Given the description of an element on the screen output the (x, y) to click on. 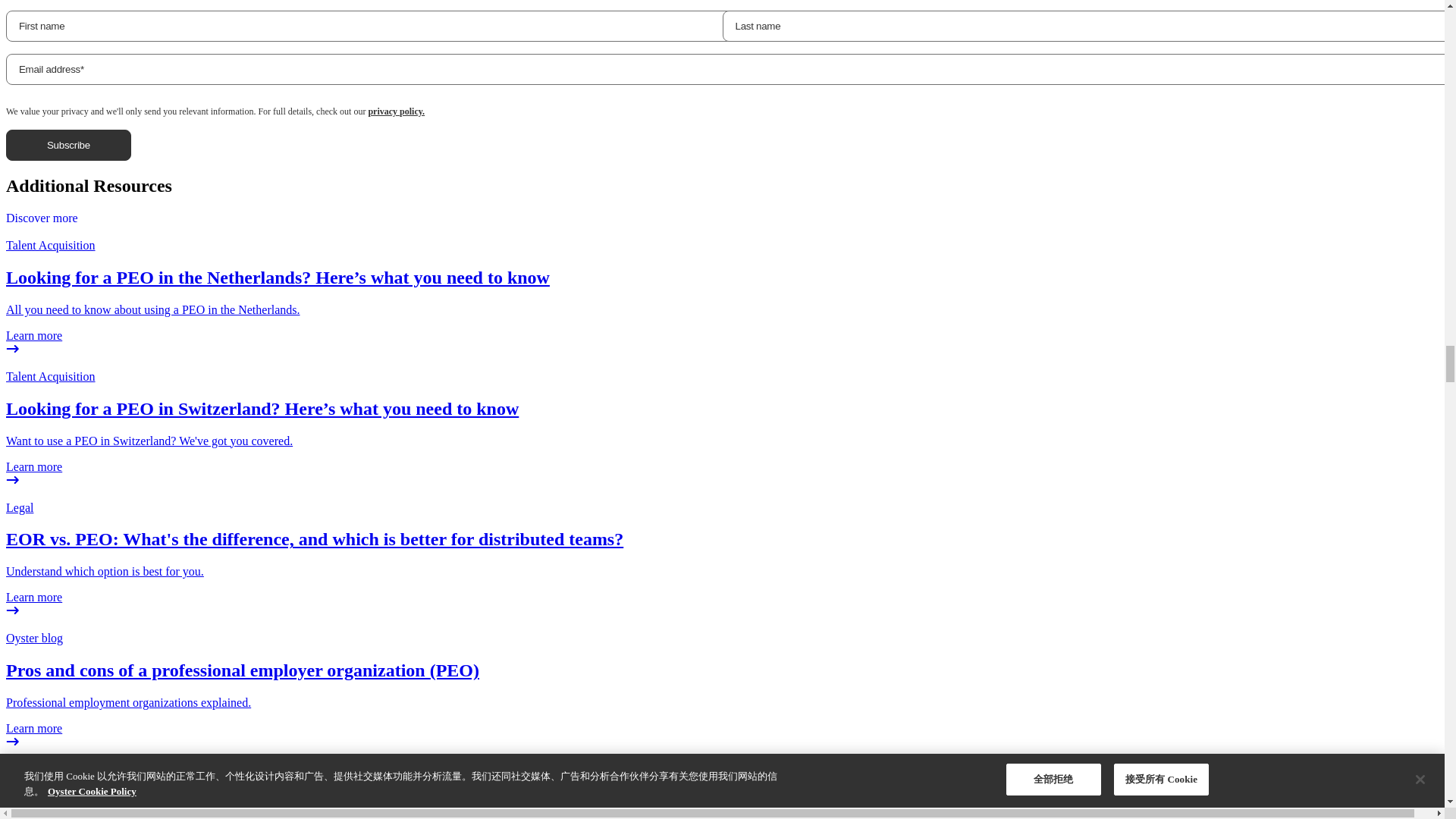
Subscribe (68, 144)
